Given the description of an element on the screen output the (x, y) to click on. 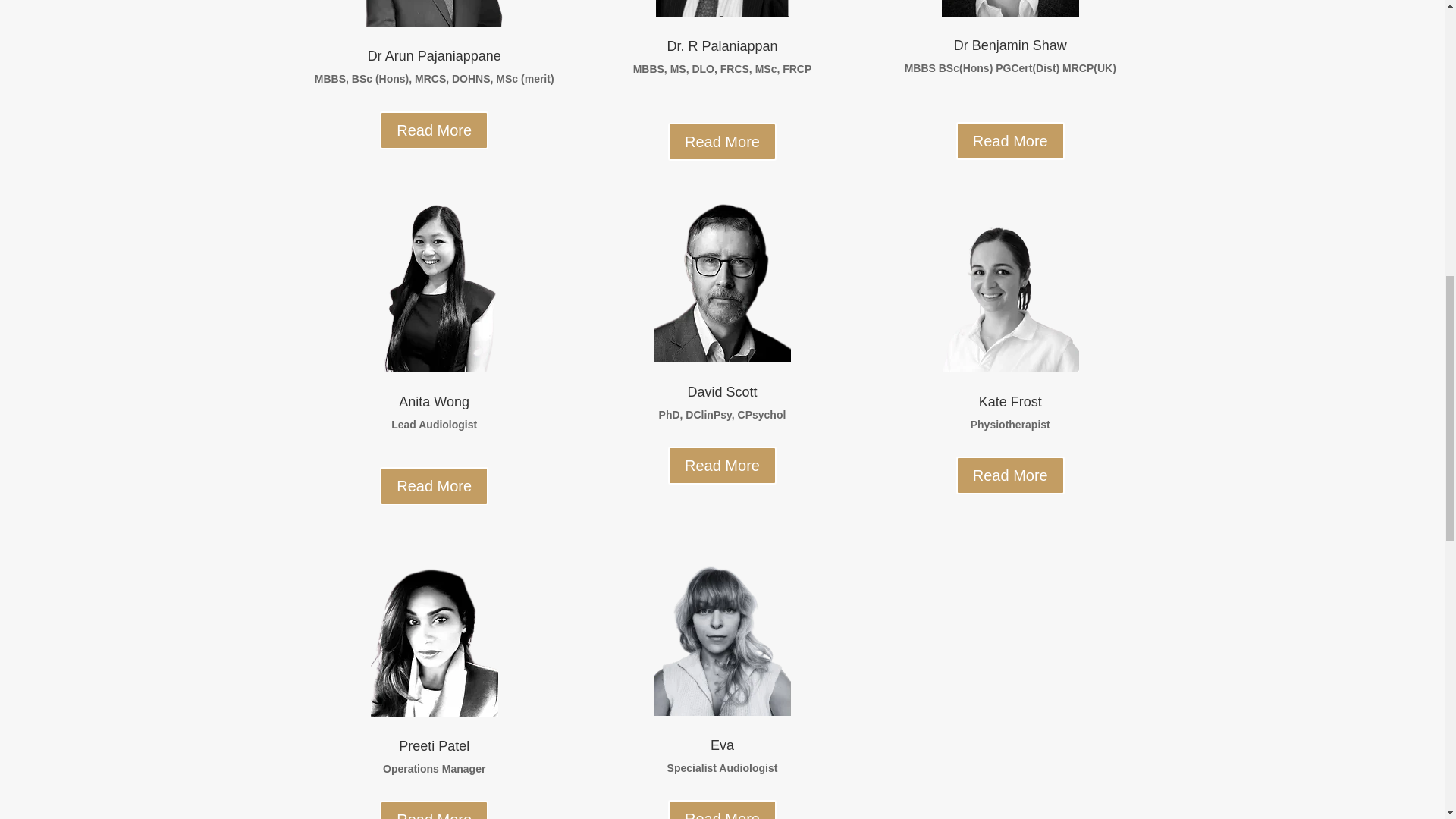
dr-ben-shaw-white-bg (1010, 8)
dr-rudrapathy-palaniappan-audiological-p (721, 8)
Dr Arun Pajaniappane (433, 13)
